Given the description of an element on the screen output the (x, y) to click on. 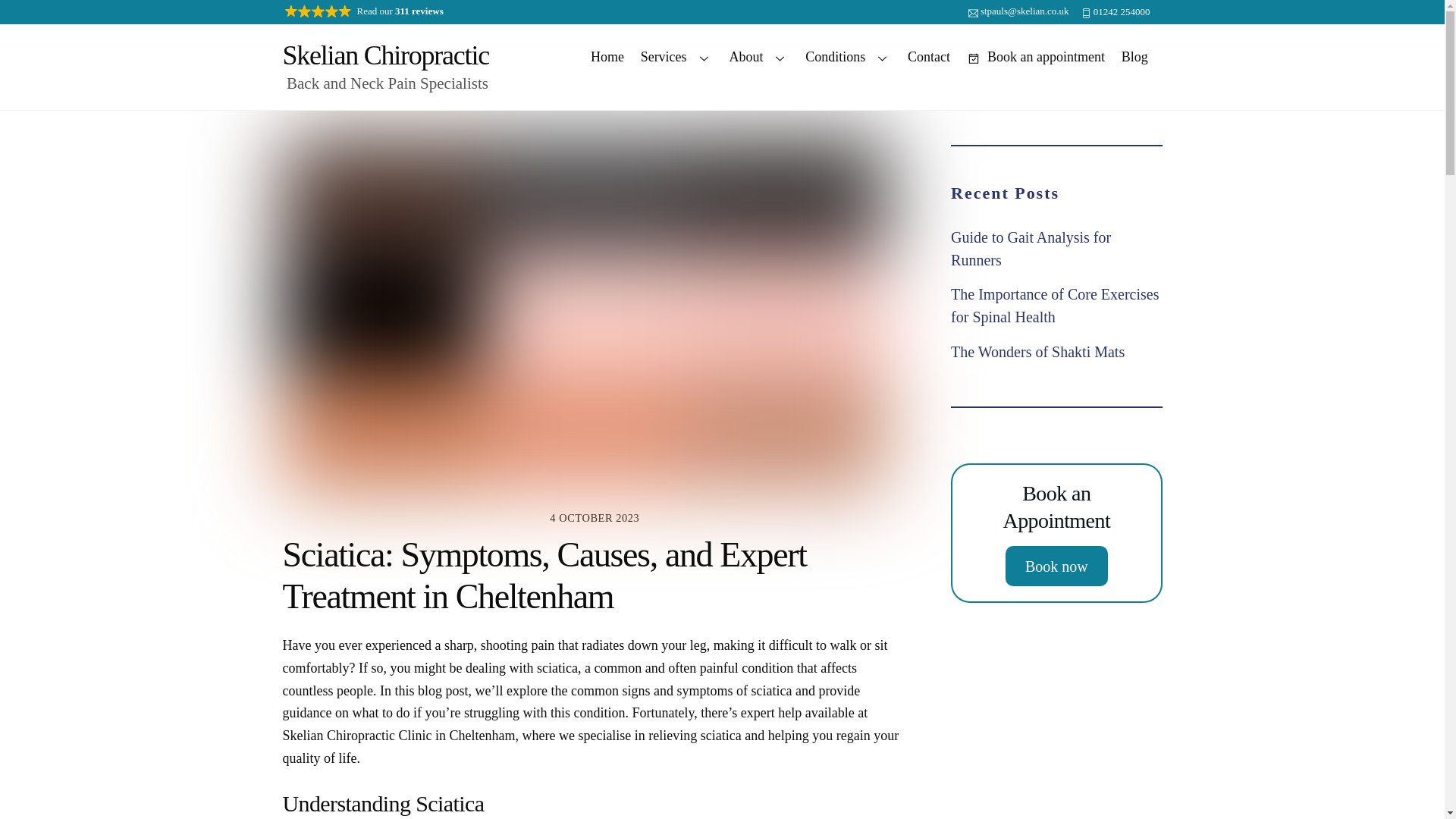
About (758, 56)
Conditions (847, 56)
Read our 311 reviews (365, 12)
Services (675, 56)
Skelian Chiropractic (384, 55)
Home (606, 56)
Skelian Chiropractic (384, 55)
01242 254000 (1115, 12)
